Given the description of an element on the screen output the (x, y) to click on. 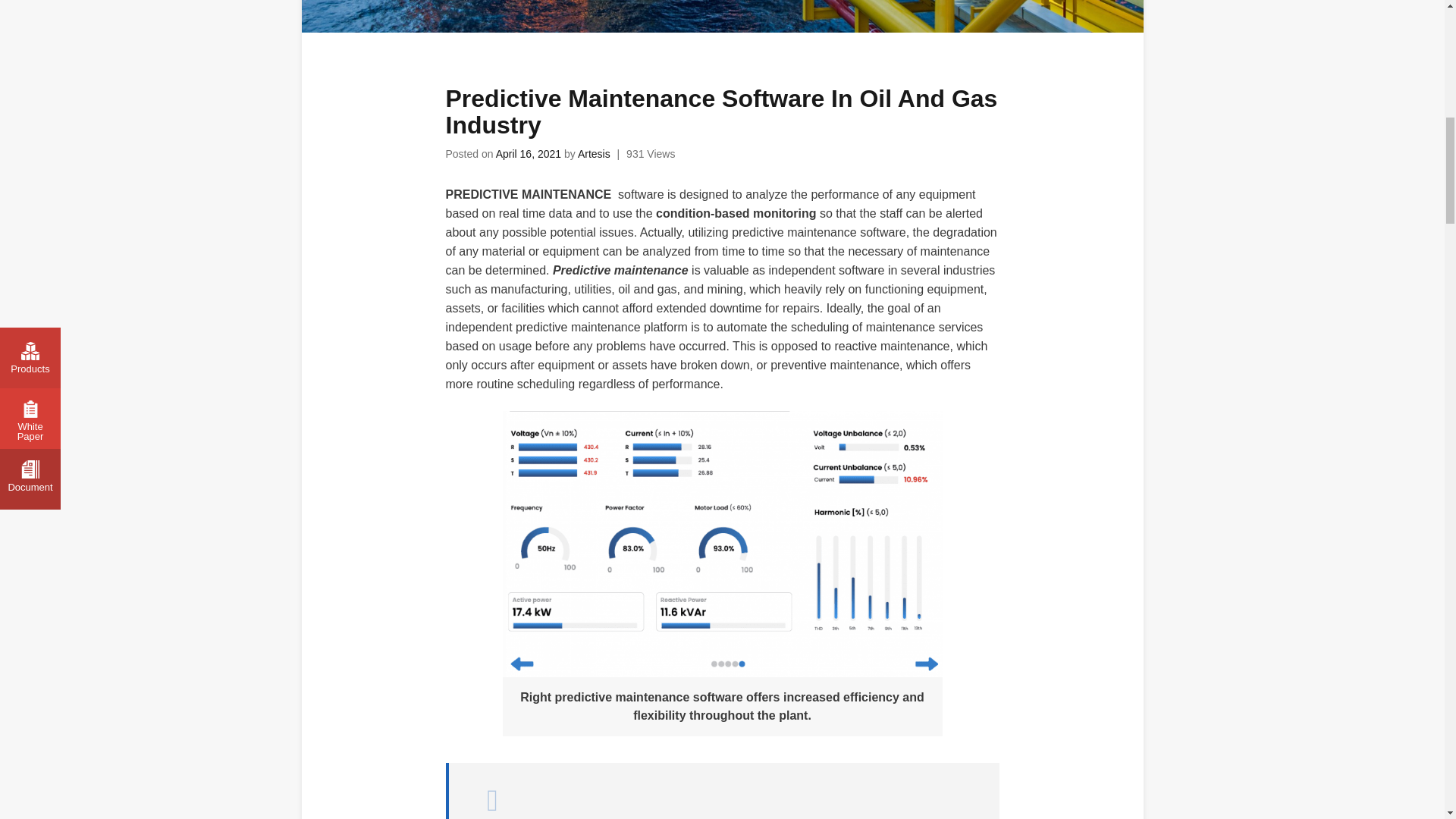
PREDICTIVE MAINTENANCE (528, 194)
April 16, 2021 (528, 153)
Artesis (594, 153)
